Given the description of an element on the screen output the (x, y) to click on. 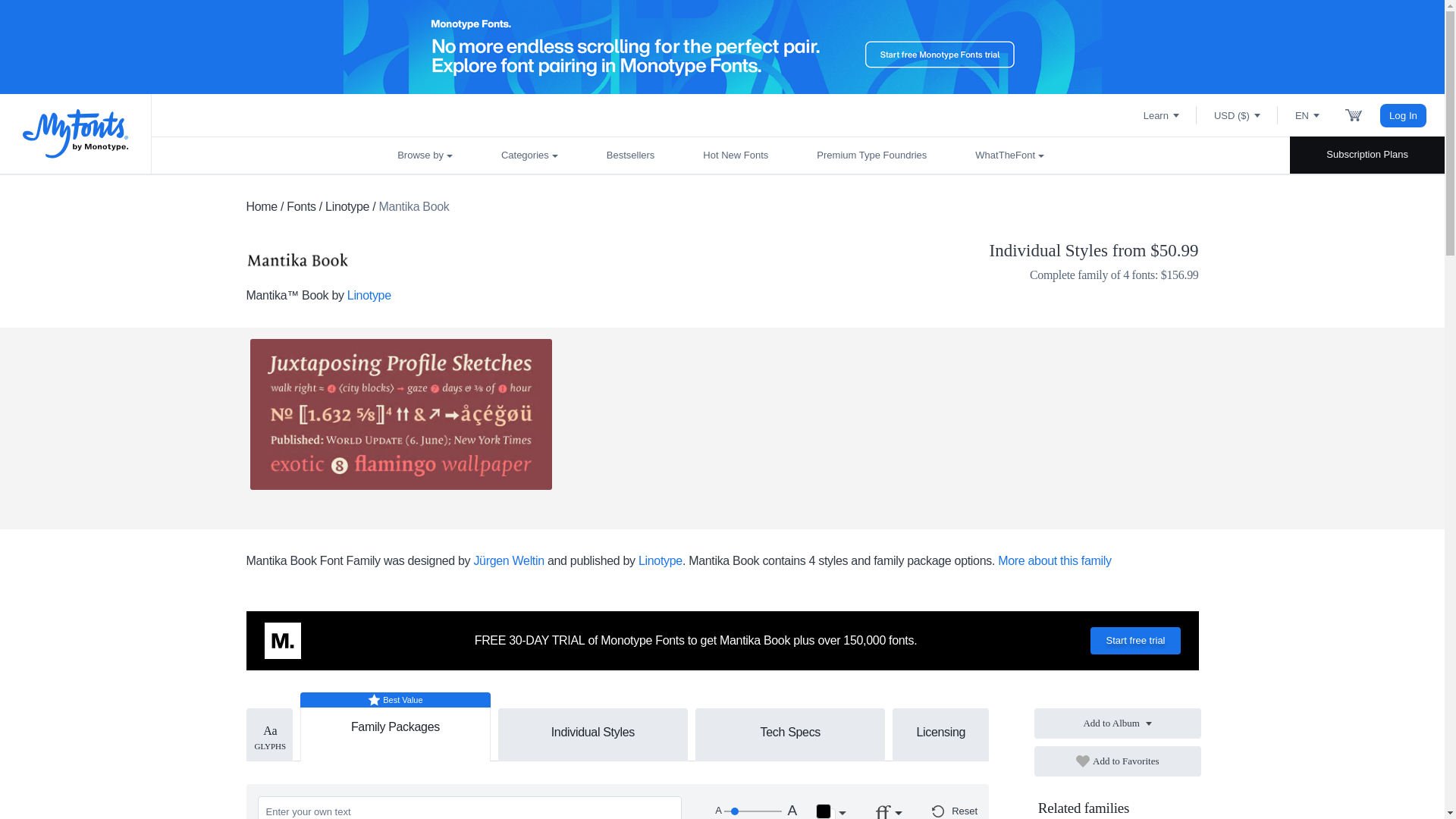
Log In (1403, 114)
Individual Styles (593, 731)
MyFonts (75, 133)
Skip to content (72, 27)
Licensing (940, 731)
Tech Specs (789, 731)
Family Packages (395, 719)
